Given the description of an element on the screen output the (x, y) to click on. 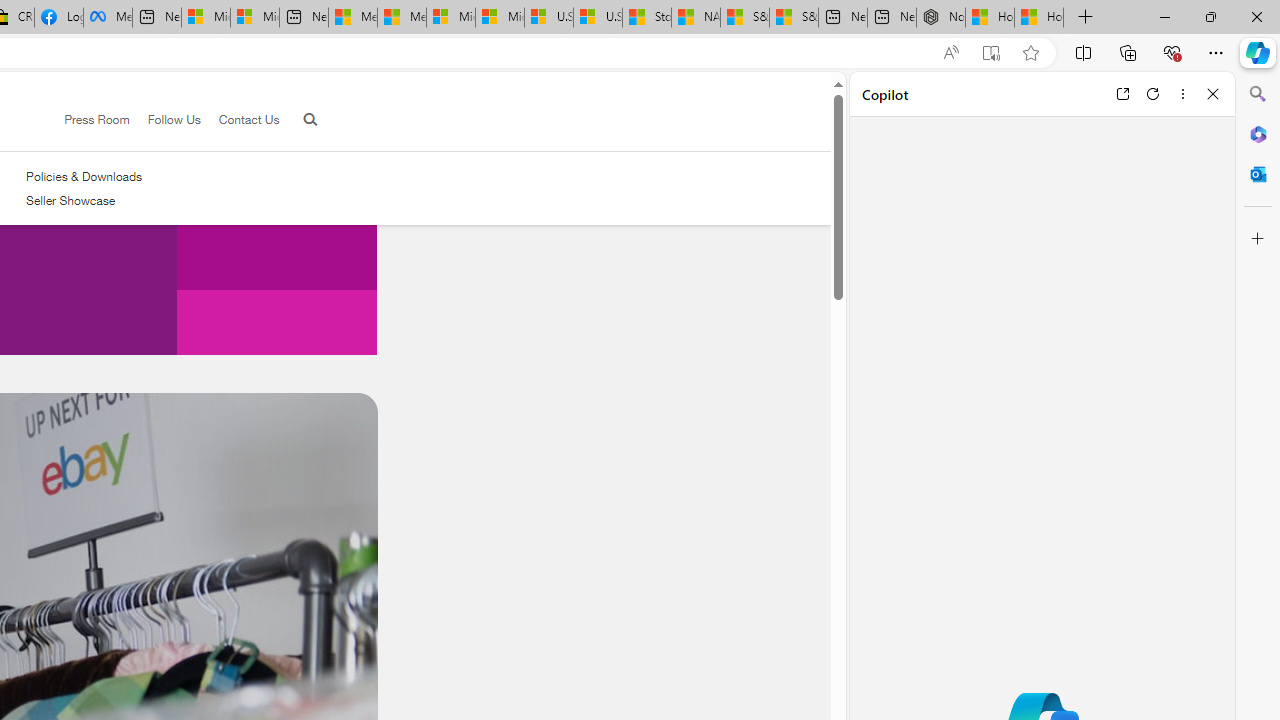
Meta Store (107, 17)
Seller Showcase (70, 200)
Follow Us (164, 120)
Seller Showcase (84, 201)
Enter Immersive Reader (F9) (991, 53)
